Given the description of an element on the screen output the (x, y) to click on. 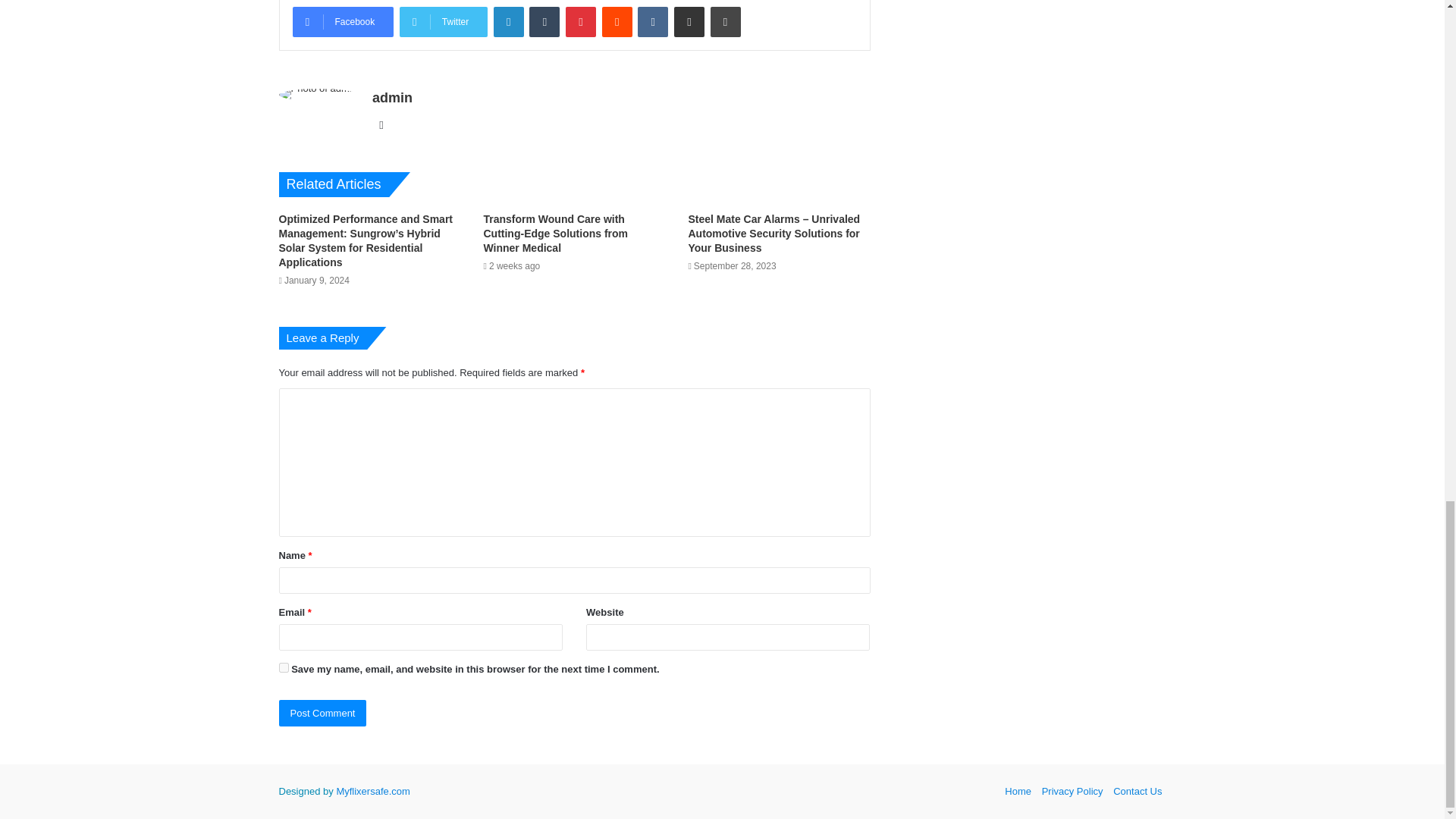
LinkedIn (508, 21)
VKontakte (652, 21)
Website (381, 125)
Reddit (616, 21)
Share via Email (689, 21)
Facebook (343, 21)
Pinterest (580, 21)
Facebook (343, 21)
Twitter (442, 21)
Pinterest (580, 21)
